Given the description of an element on the screen output the (x, y) to click on. 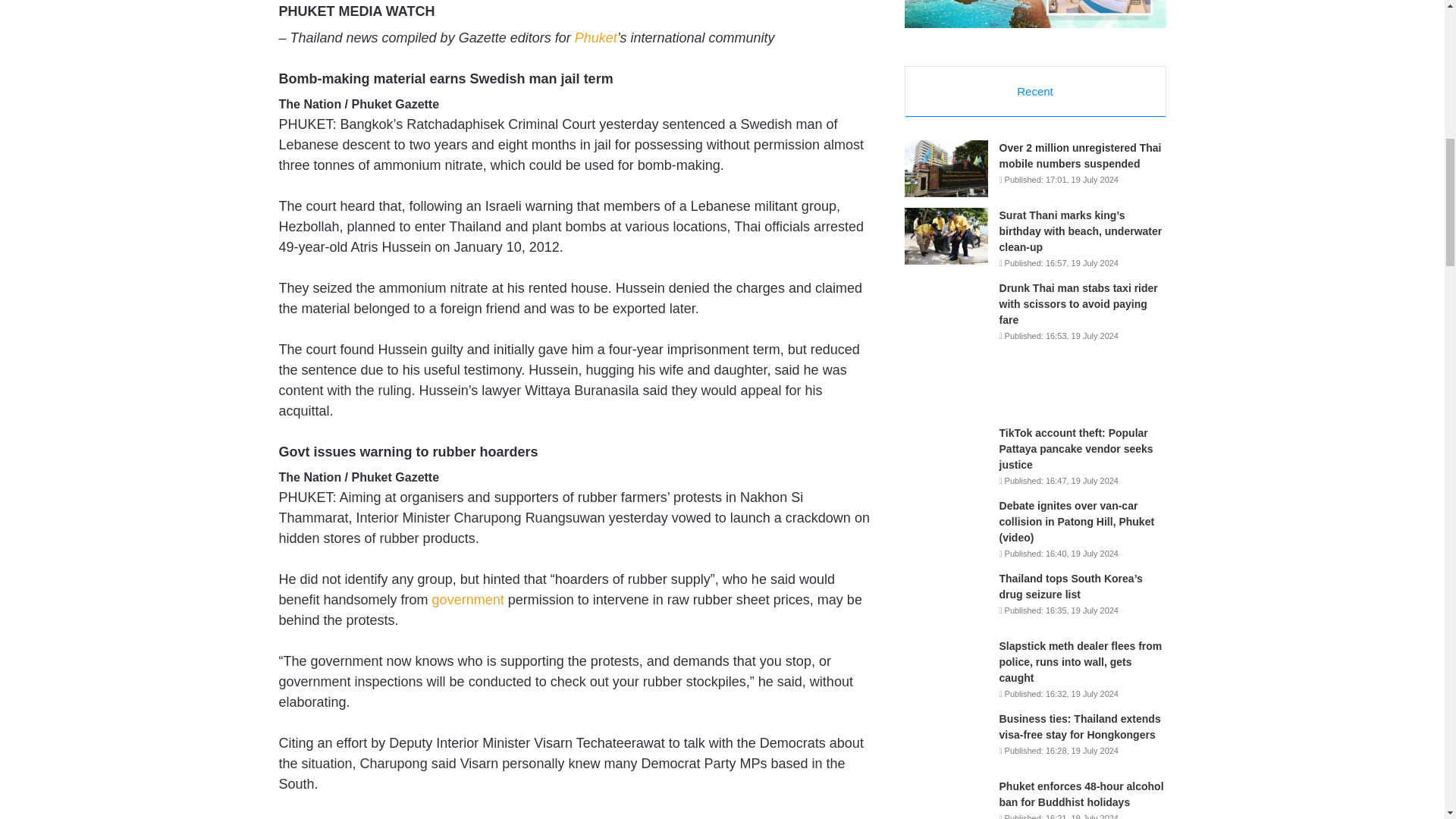
Phuket (596, 37)
Politics (467, 599)
